Given the description of an element on the screen output the (x, y) to click on. 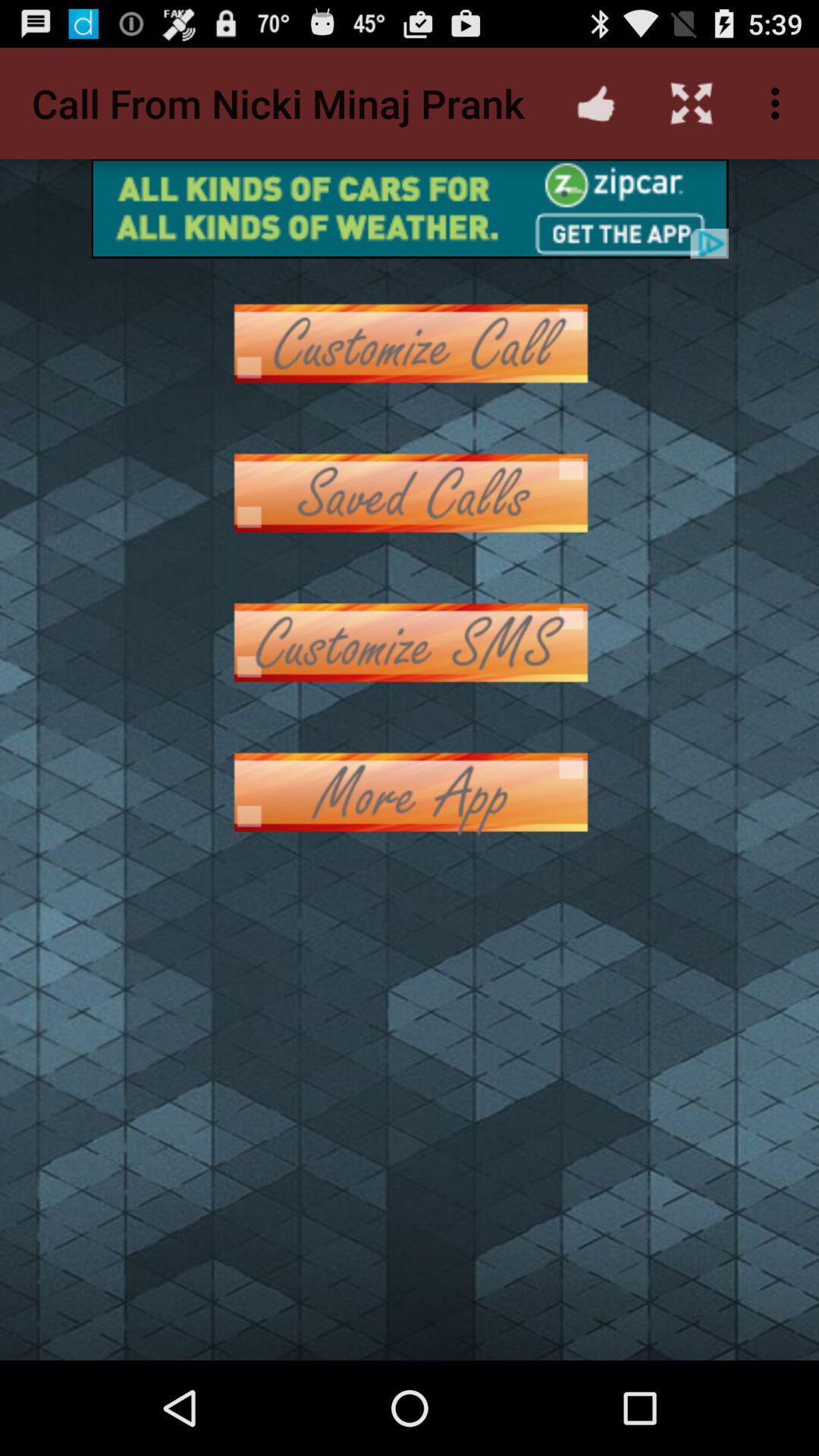
select customize sms (409, 642)
